Given the description of an element on the screen output the (x, y) to click on. 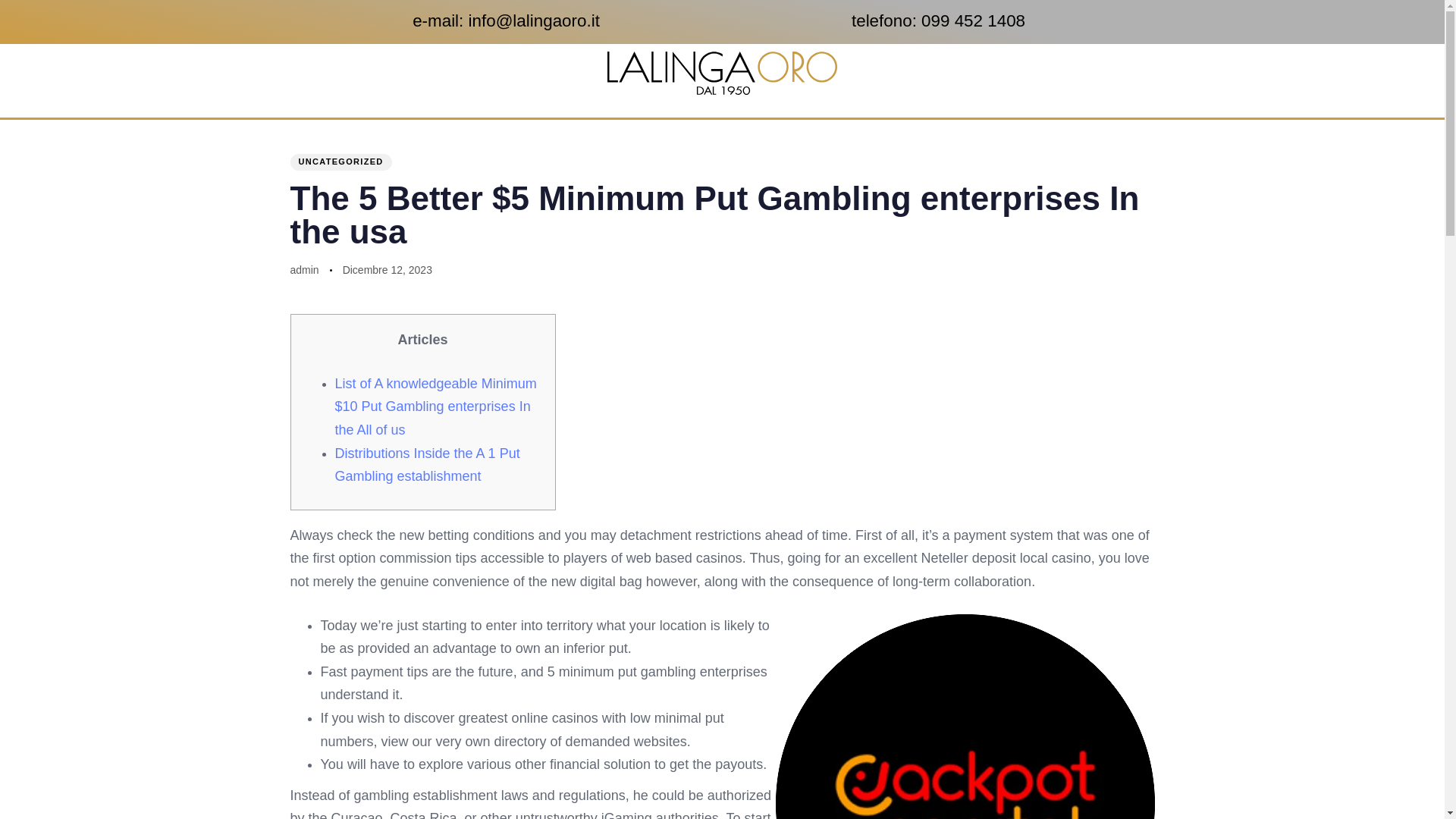
UNCATEGORIZED (340, 161)
admin (303, 269)
Distributions Inside the A 1 Put Gambling establishment (426, 464)
Dicembre 12, 2023 (387, 270)
Posts by admin (303, 269)
